Given the description of an element on the screen output the (x, y) to click on. 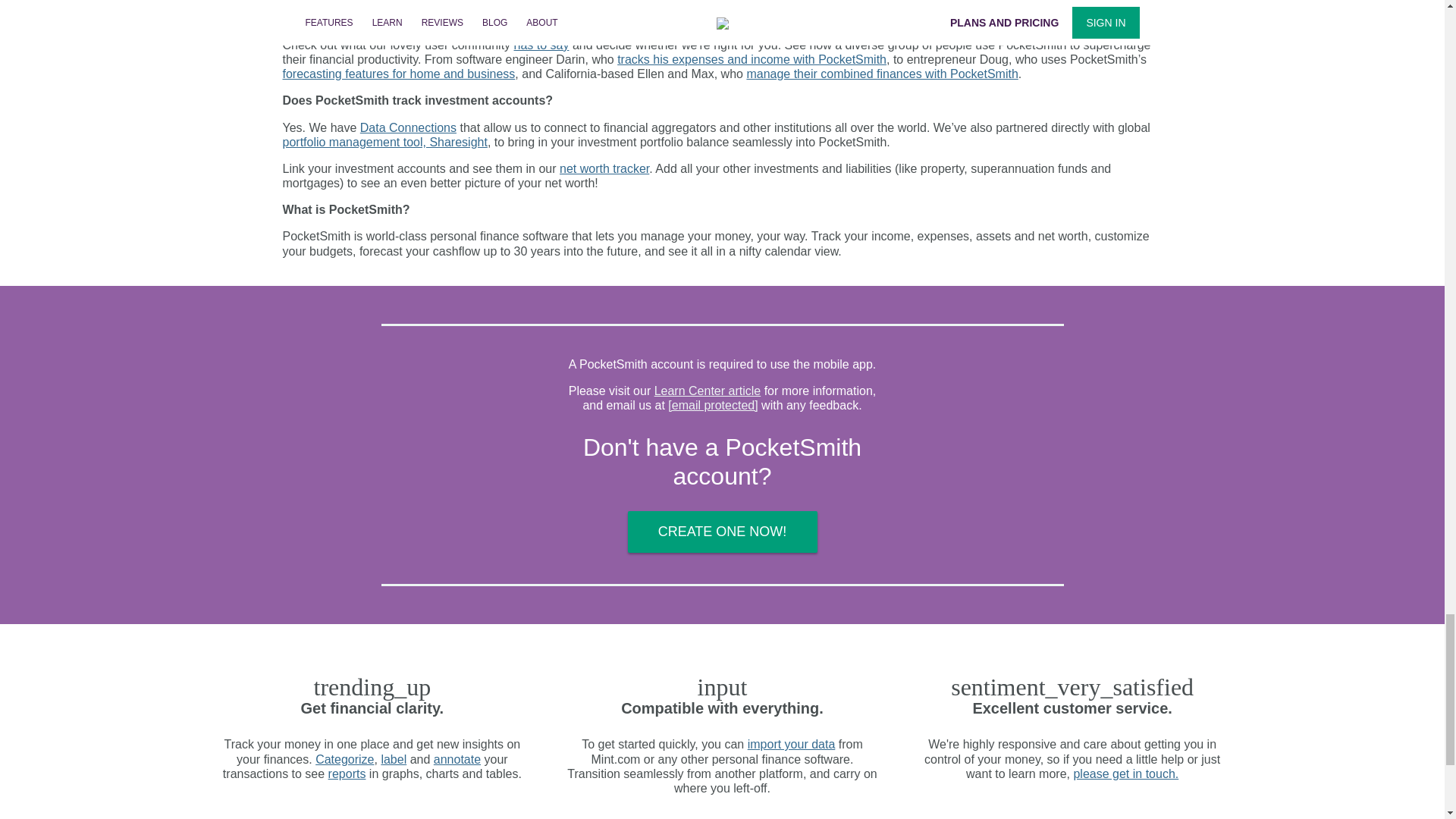
has to say (541, 44)
reports (347, 773)
Data Connections (408, 127)
label (393, 758)
Learn Center article (707, 390)
Categorize (344, 758)
net worth tracker (604, 168)
annotate (456, 758)
forecasting features for home and business (398, 73)
portfolio management tool, Sharesight (384, 141)
import your data (791, 744)
CREATE ONE NOW! (721, 531)
please get in touch. (1125, 773)
tracks his expenses and income with PocketSmith (751, 59)
manage their combined finances with PocketSmith (881, 73)
